Given the description of an element on the screen output the (x, y) to click on. 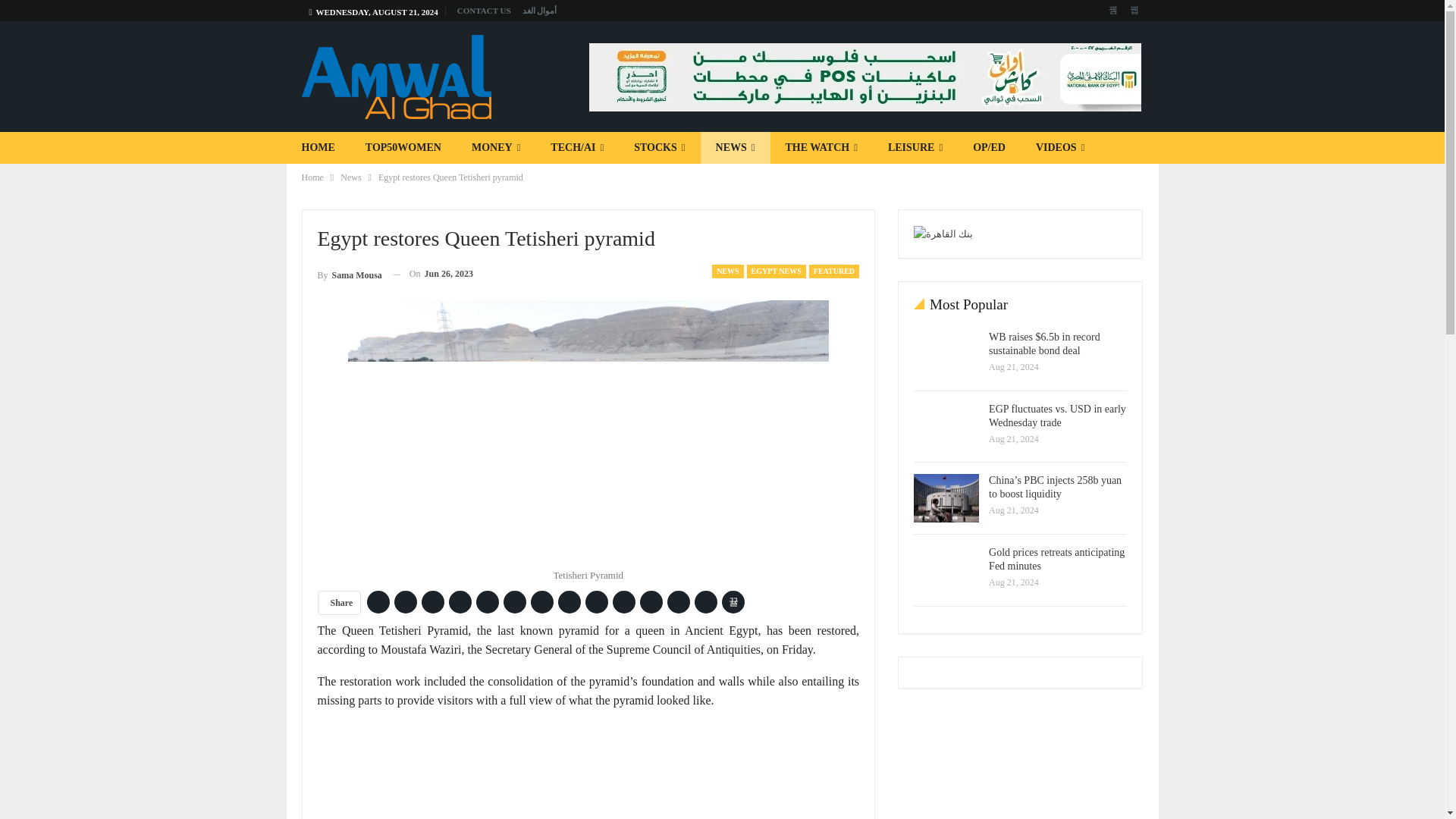
MONEY (496, 147)
CONTACT US (484, 10)
STOCKS (659, 147)
HOME (318, 147)
TOP50WOMEN (403, 147)
